Given the description of an element on the screen output the (x, y) to click on. 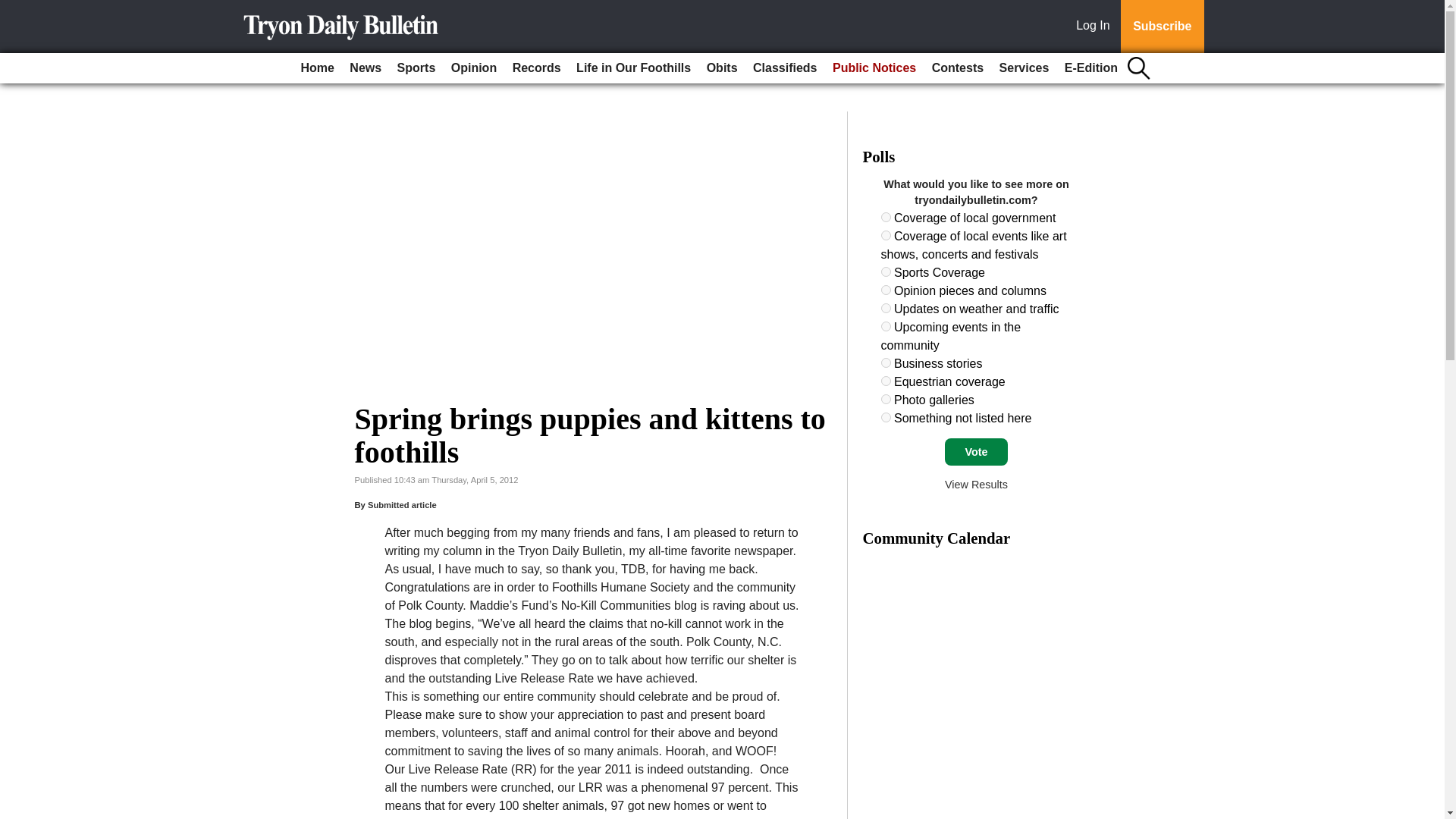
1557 (885, 216)
Log In (1095, 26)
1563 (885, 362)
News (365, 68)
Go (13, 9)
1565 (885, 398)
1560 (885, 289)
1564 (885, 380)
1558 (885, 235)
E-Edition (1091, 68)
Contests (958, 68)
Opinion (473, 68)
Life in Our Foothills (633, 68)
Records (536, 68)
View Results Of This Poll (975, 484)
